Given the description of an element on the screen output the (x, y) to click on. 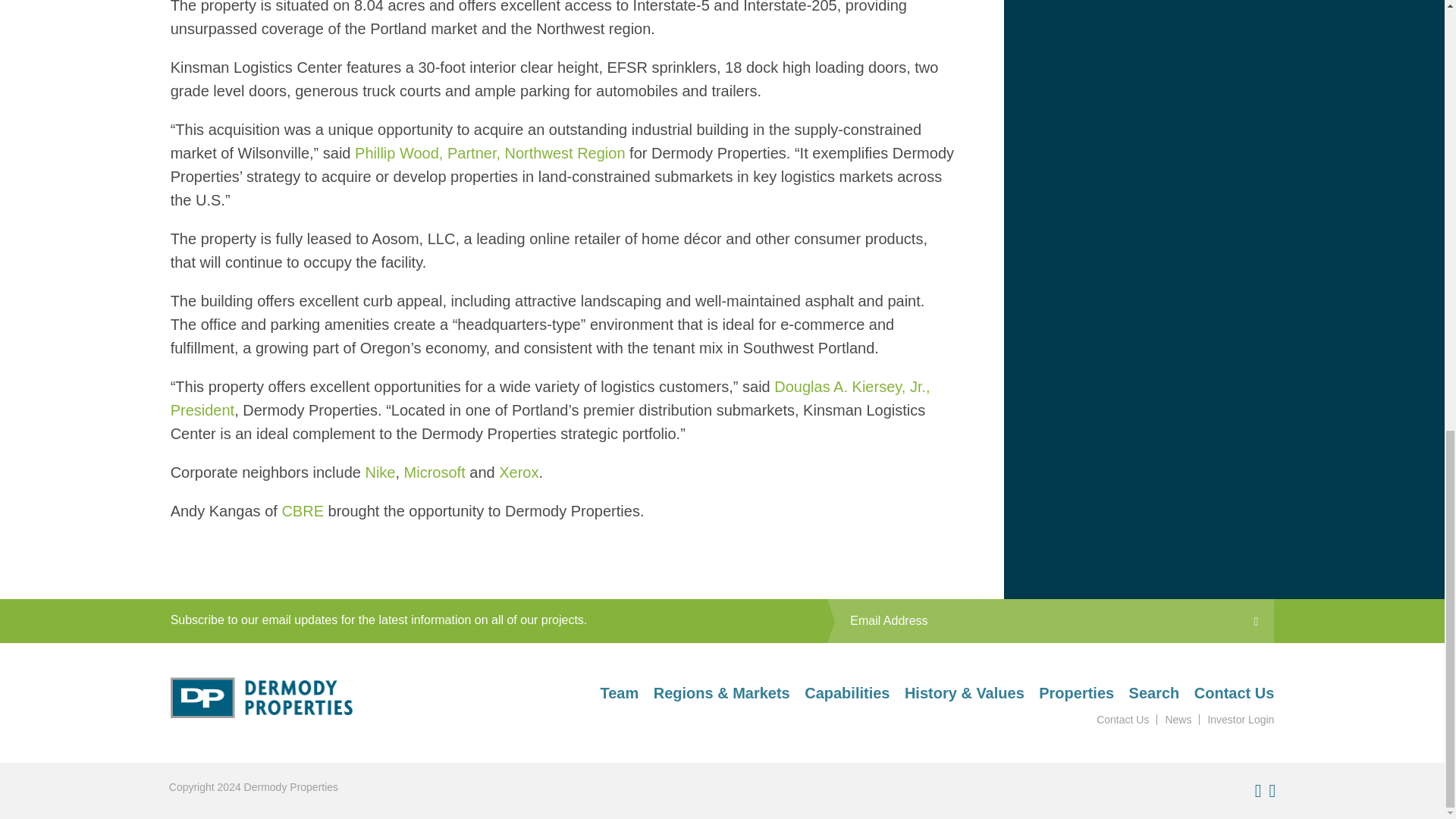
Microsoft (434, 472)
Nike (379, 472)
Douglas A. Kiersey (550, 398)
Phillip Wood (489, 152)
CBRE (302, 510)
Xerox (518, 472)
